Given the description of an element on the screen output the (x, y) to click on. 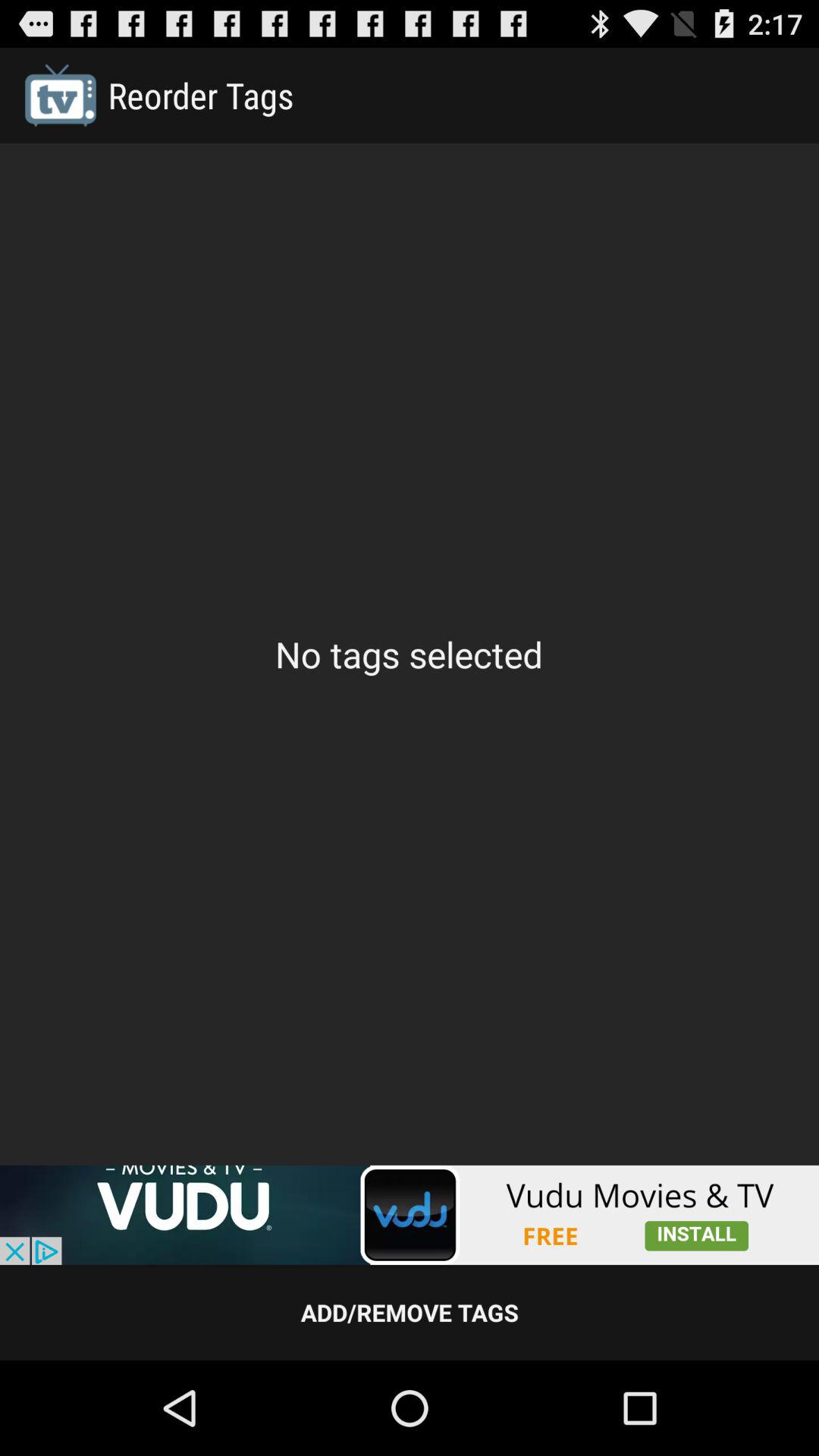
view advertisement (409, 1214)
